Given the description of an element on the screen output the (x, y) to click on. 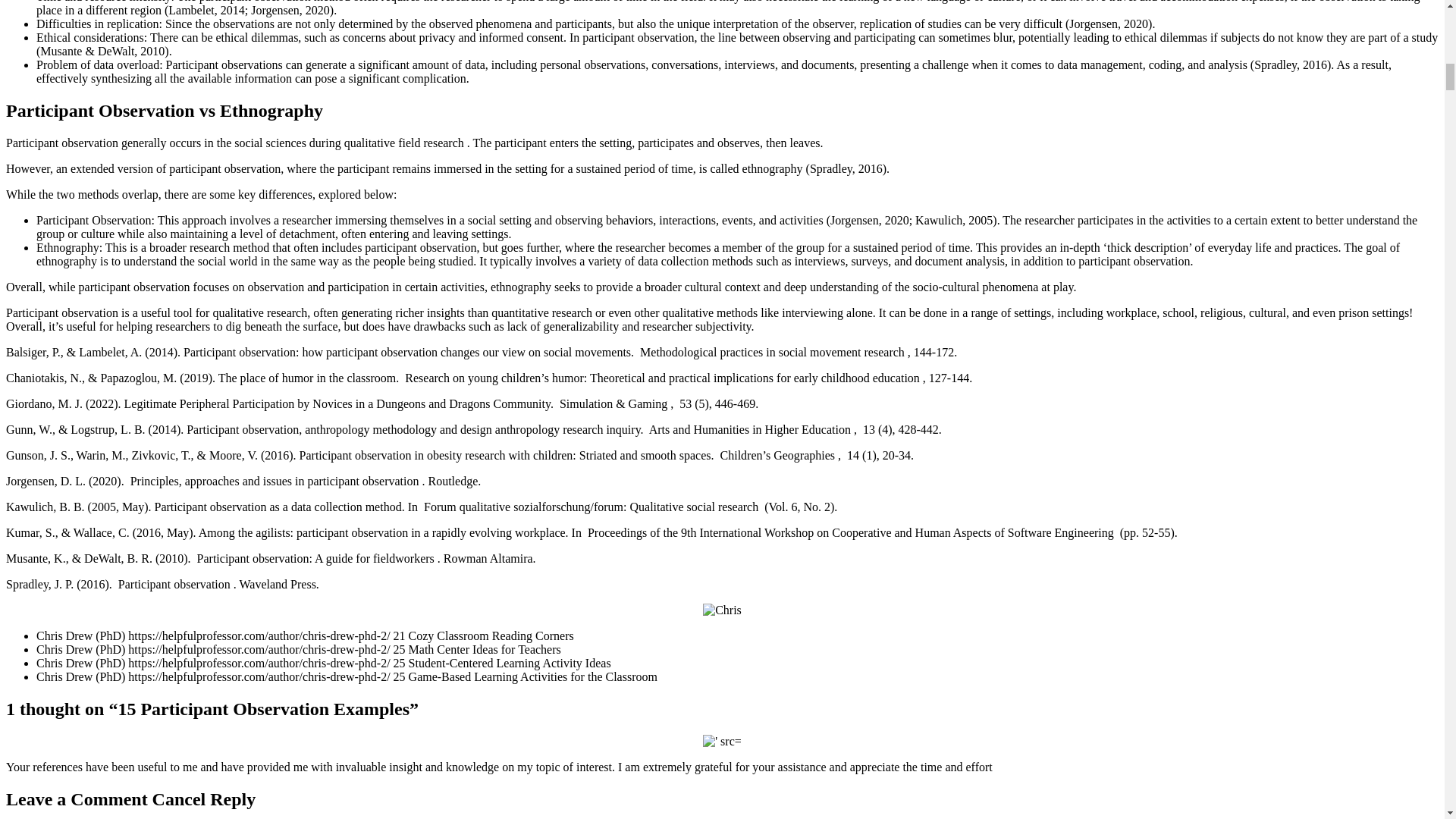
participant observation essay examples (722, 741)
participant observation essay examples (722, 610)
